Given the description of an element on the screen output the (x, y) to click on. 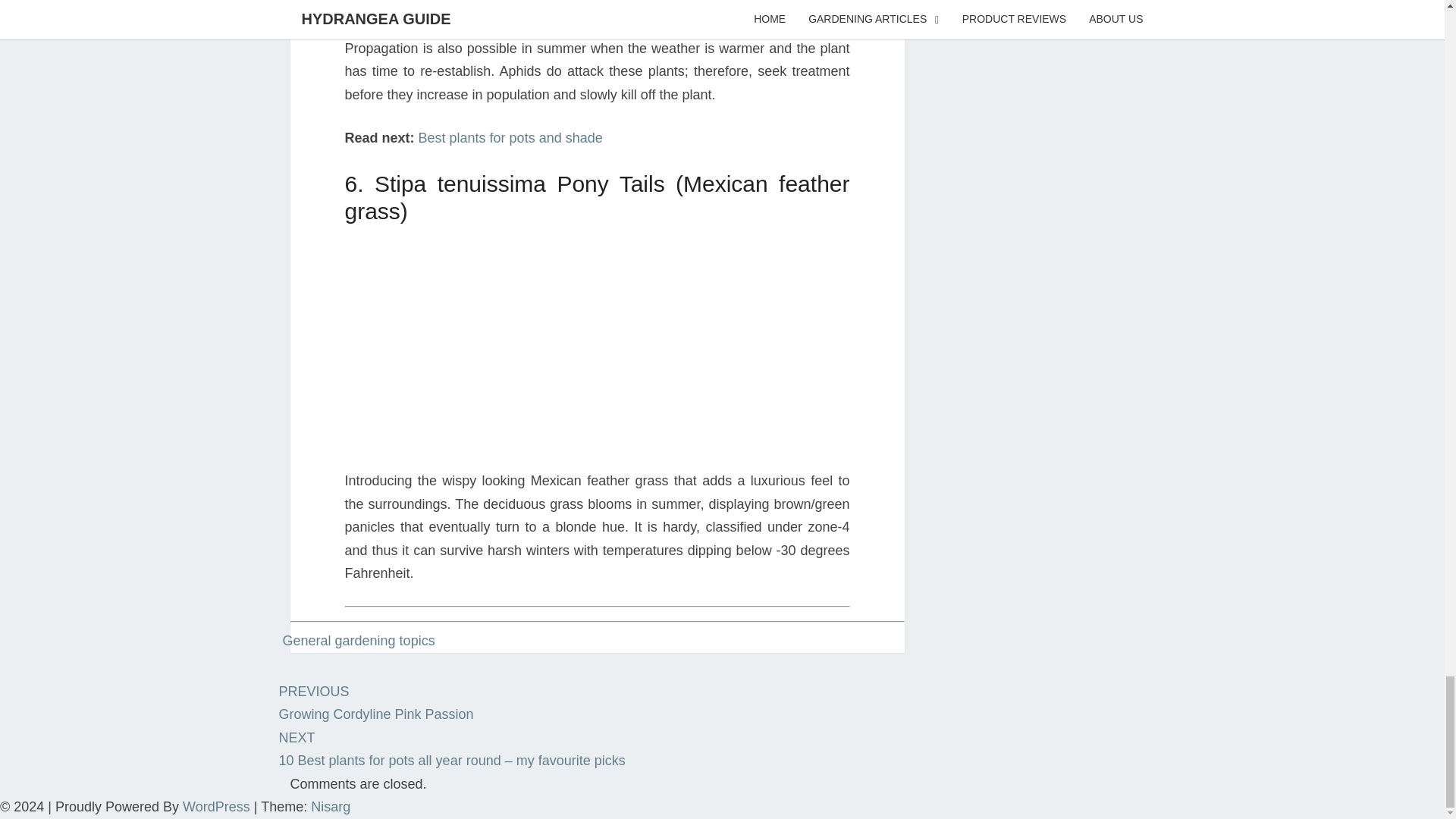
General gardening topics (376, 702)
Best plants for pots and shade (358, 640)
